Given the description of an element on the screen output the (x, y) to click on. 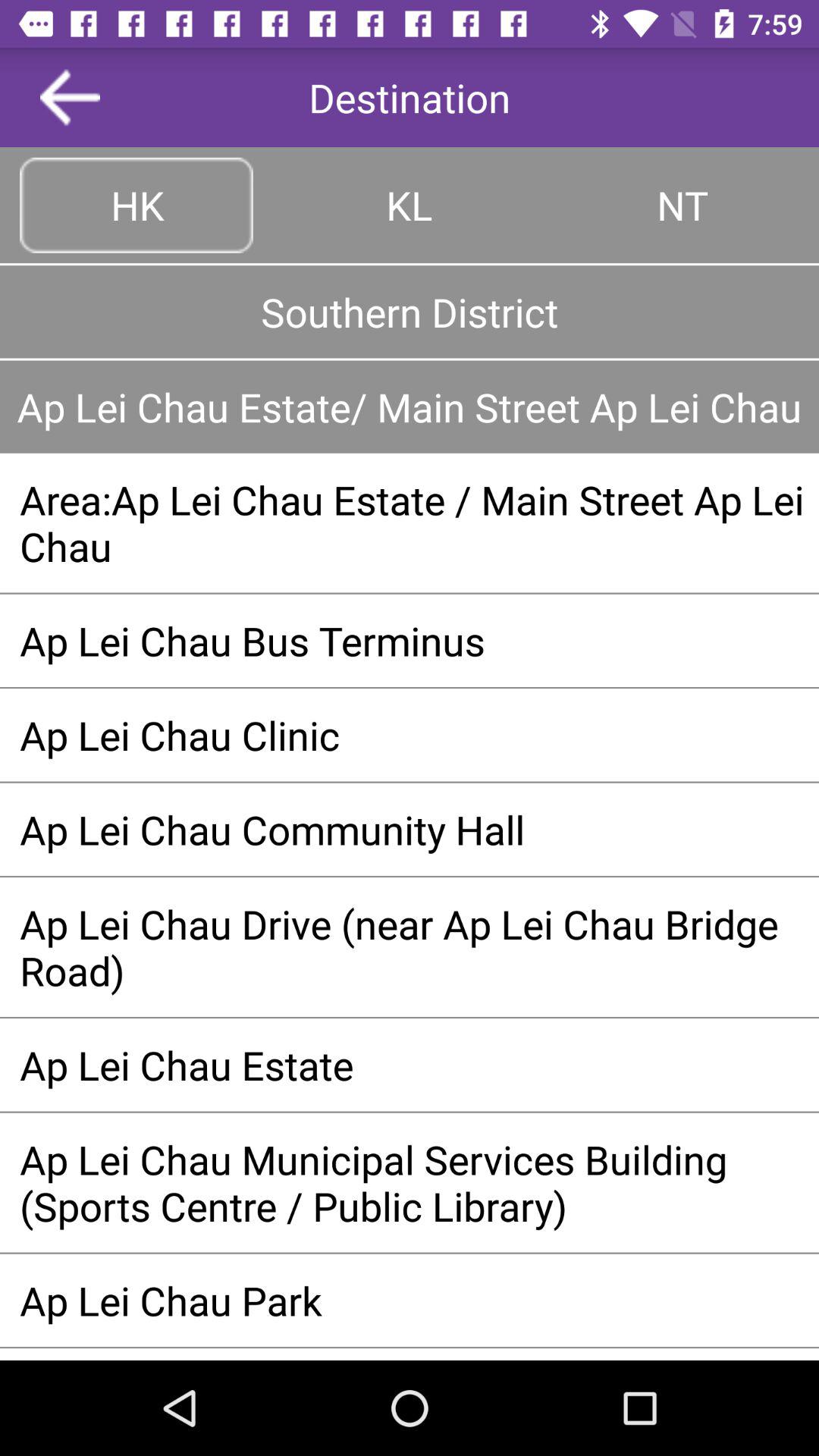
choose item next to the kl item (682, 205)
